Given the description of an element on the screen output the (x, y) to click on. 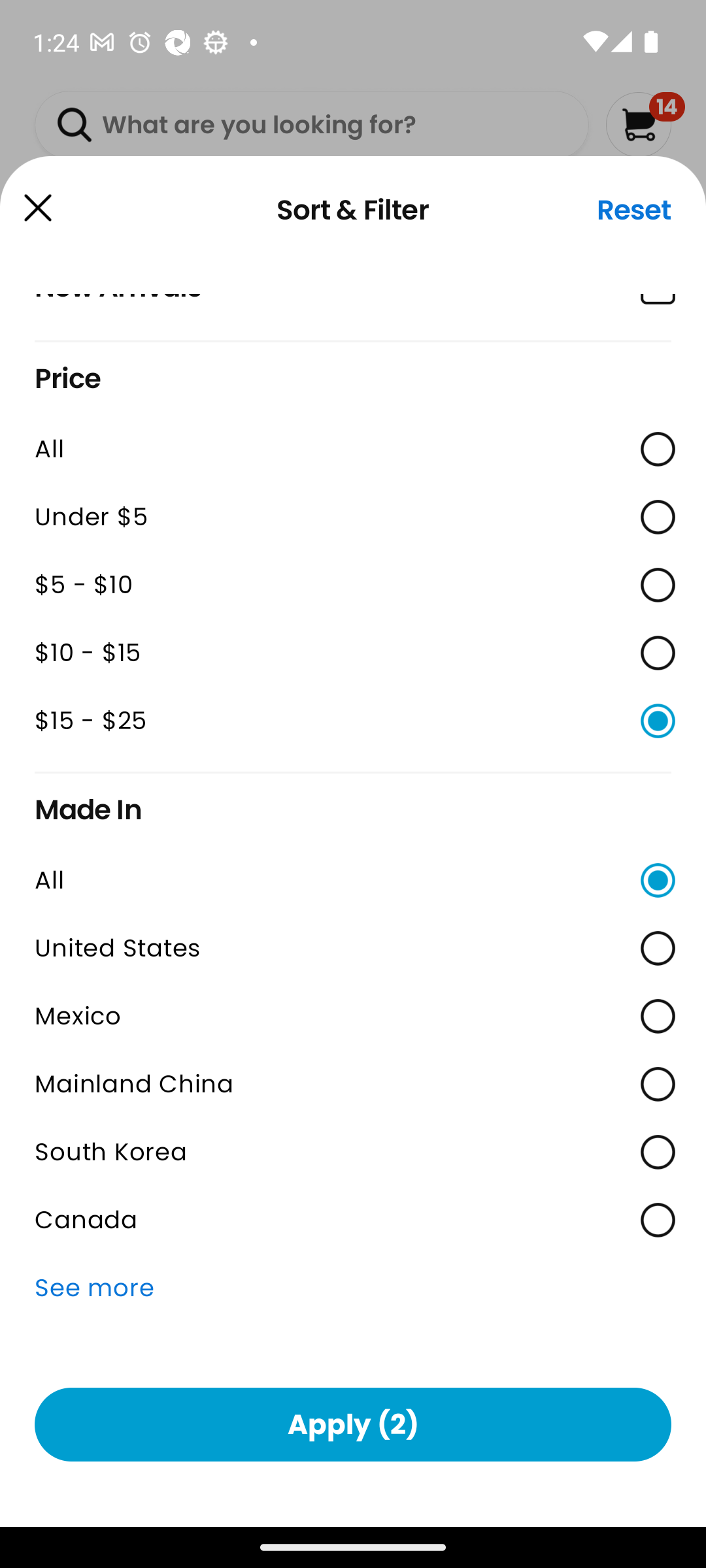
Reset (633, 209)
See more (353, 1287)
Apply (2) (352, 1424)
